Given the description of an element on the screen output the (x, y) to click on. 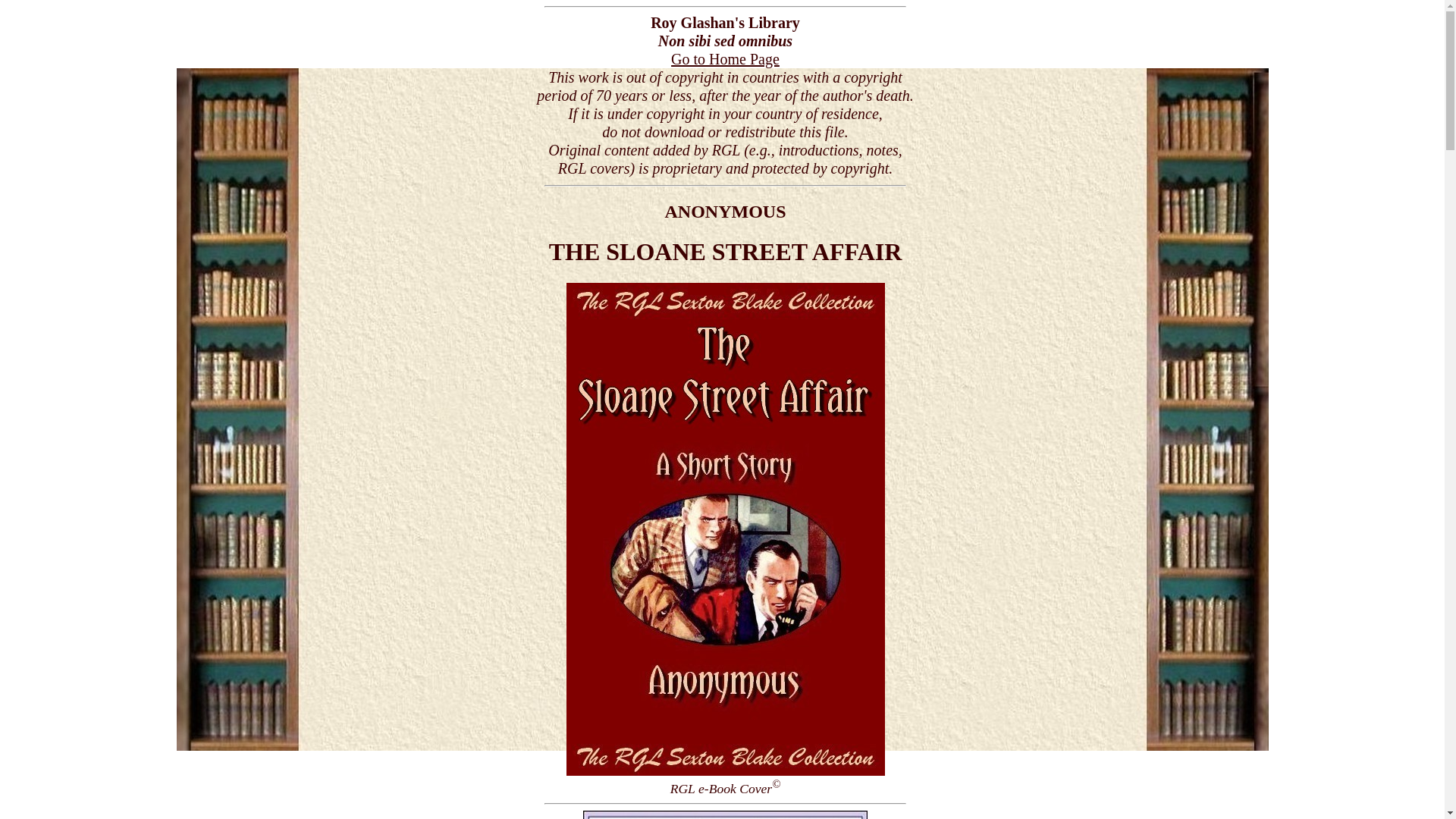
RGL Cover Image Element type: hover (724, 528)
Go to Home Page Element type: text (725, 58)
